Given the description of an element on the screen output the (x, y) to click on. 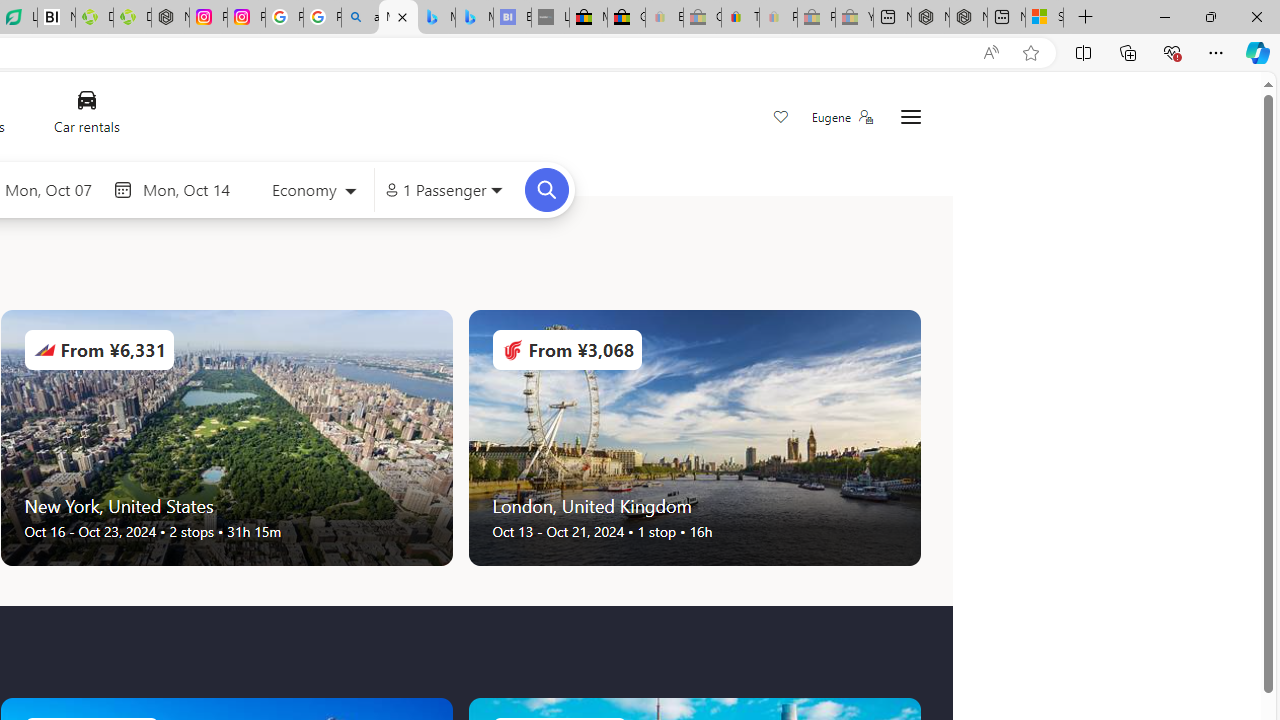
1 Passenger (443, 189)
Microsoft Bing Travel - Shangri-La Hotel Bangkok (473, 17)
Click to scroll right (920, 437)
Press Room - eBay Inc. - Sleeping (815, 17)
Nvidia va a poner a prueba la paciencia de los inversores (56, 17)
Save (780, 118)
Nordace - Summer Adventures 2024 (967, 17)
Save (780, 118)
